Given the description of an element on the screen output the (x, y) to click on. 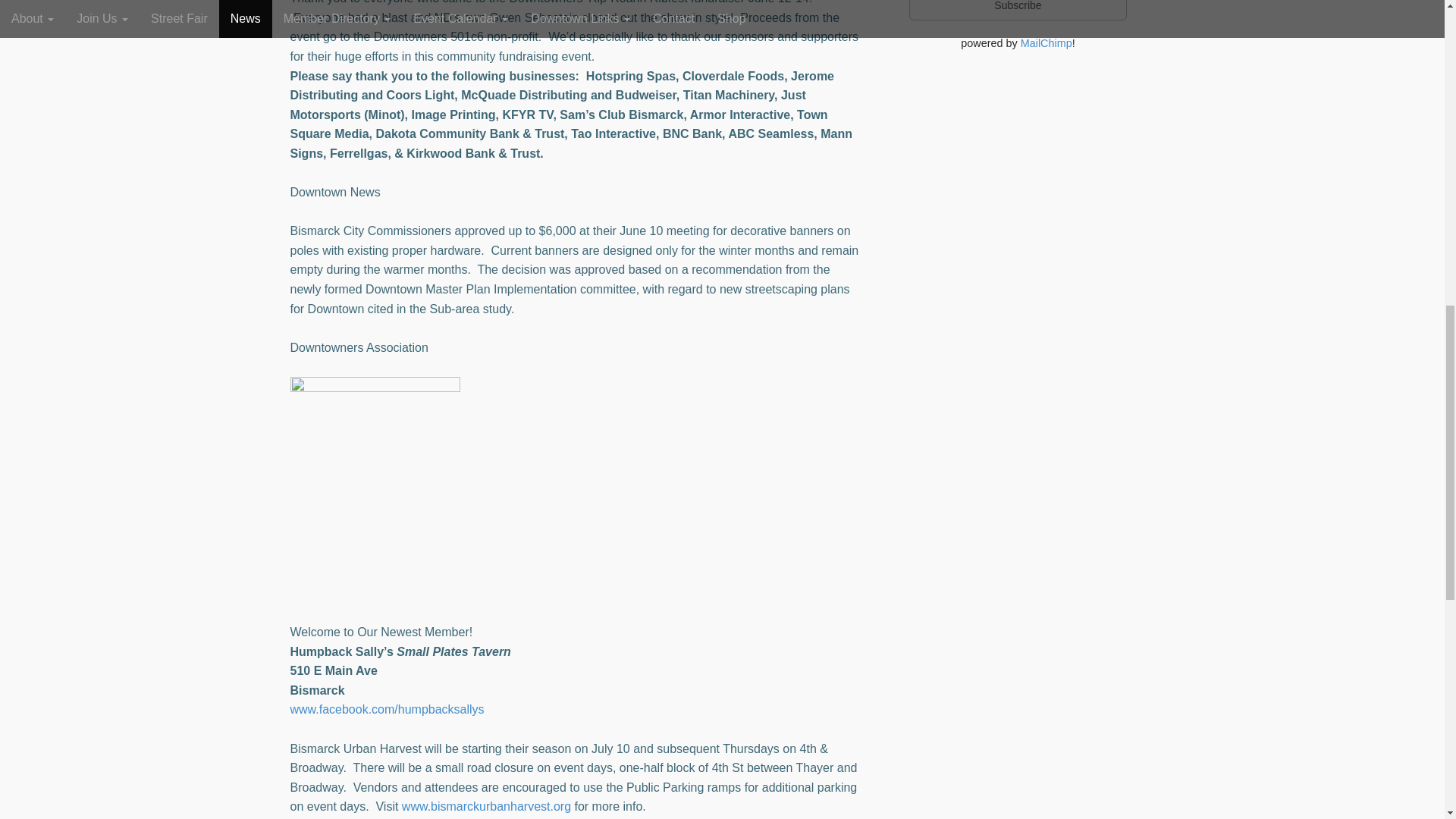
Subscribe (1017, 10)
